Given the description of an element on the screen output the (x, y) to click on. 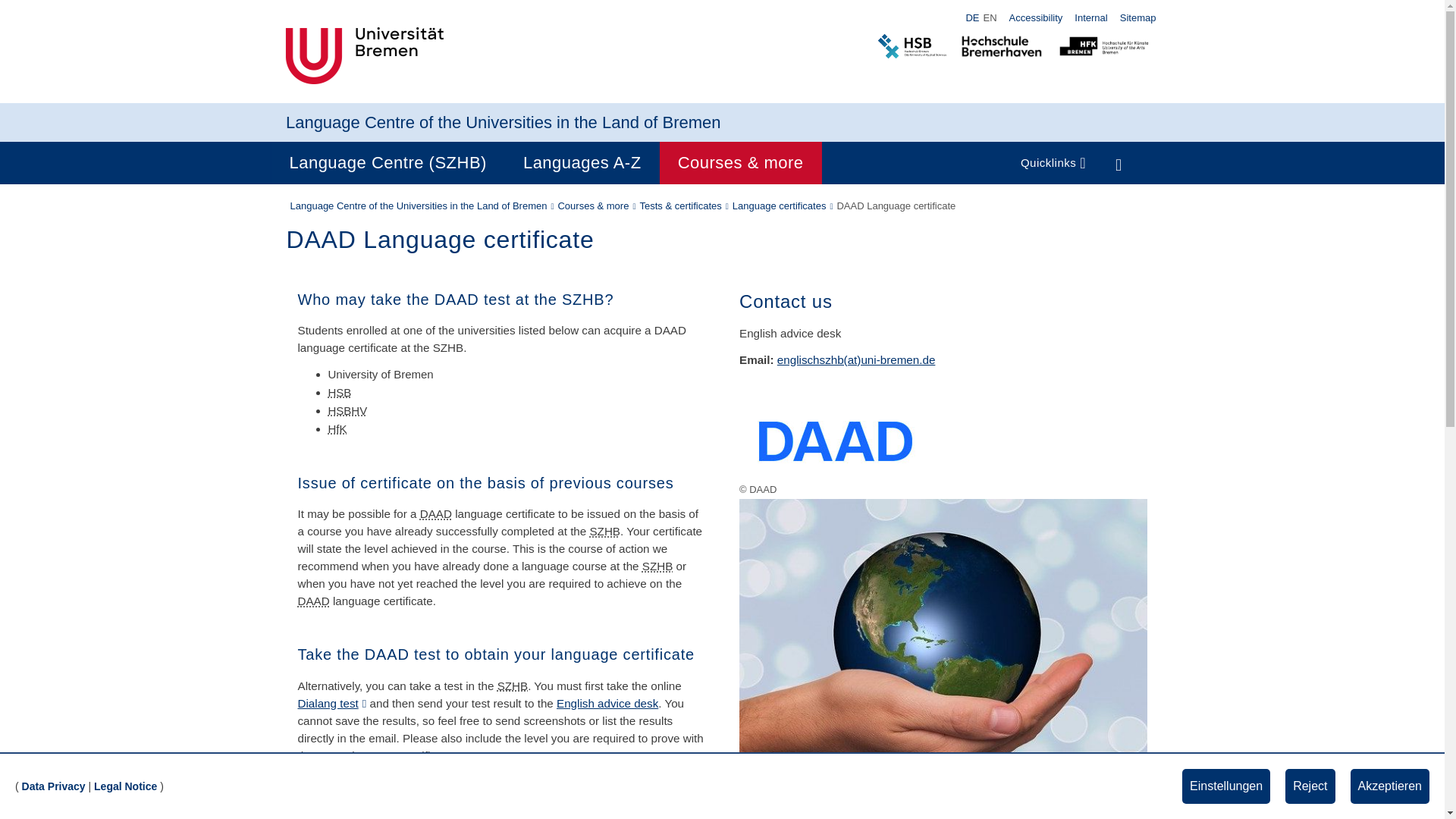
Internal (1090, 16)
DE (971, 17)
German Academic Exchange Service (313, 600)
SZHB Language Centre (512, 685)
Hochschule Bremen (338, 391)
SZHB Language Centre (604, 530)
Scroll to the bottom of the page (1411, 785)
Opens external link in new window (331, 703)
Accessibility (1035, 16)
German Academic Exchange Service (333, 755)
Sitemap (1137, 16)
Languages A-Z (582, 162)
German Academic Exchange Service (435, 513)
Opens external link in new window (506, 799)
SZHB Language Centre (657, 565)
